Given the description of an element on the screen output the (x, y) to click on. 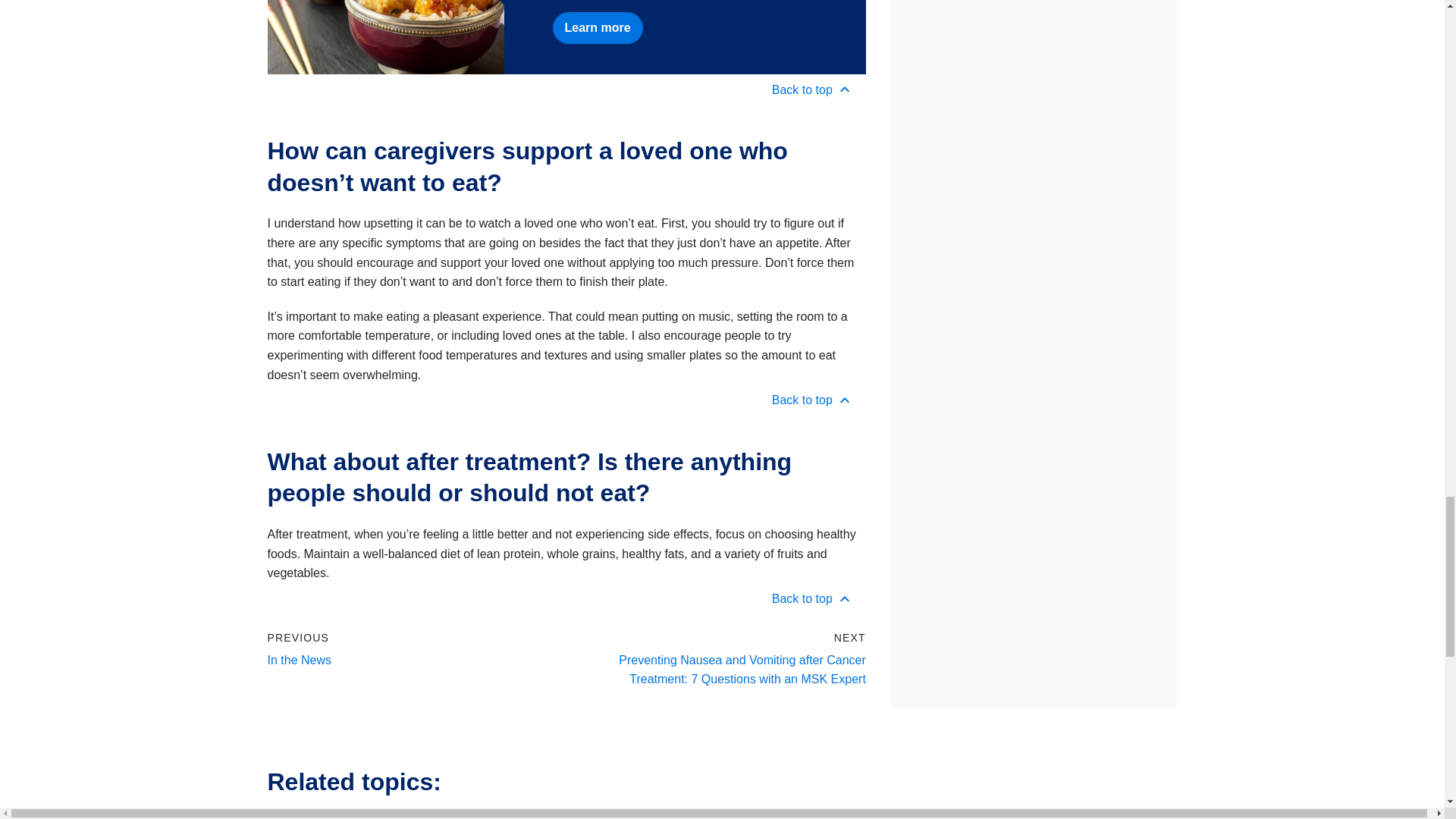
Learn more (596, 28)
